Given the description of an element on the screen output the (x, y) to click on. 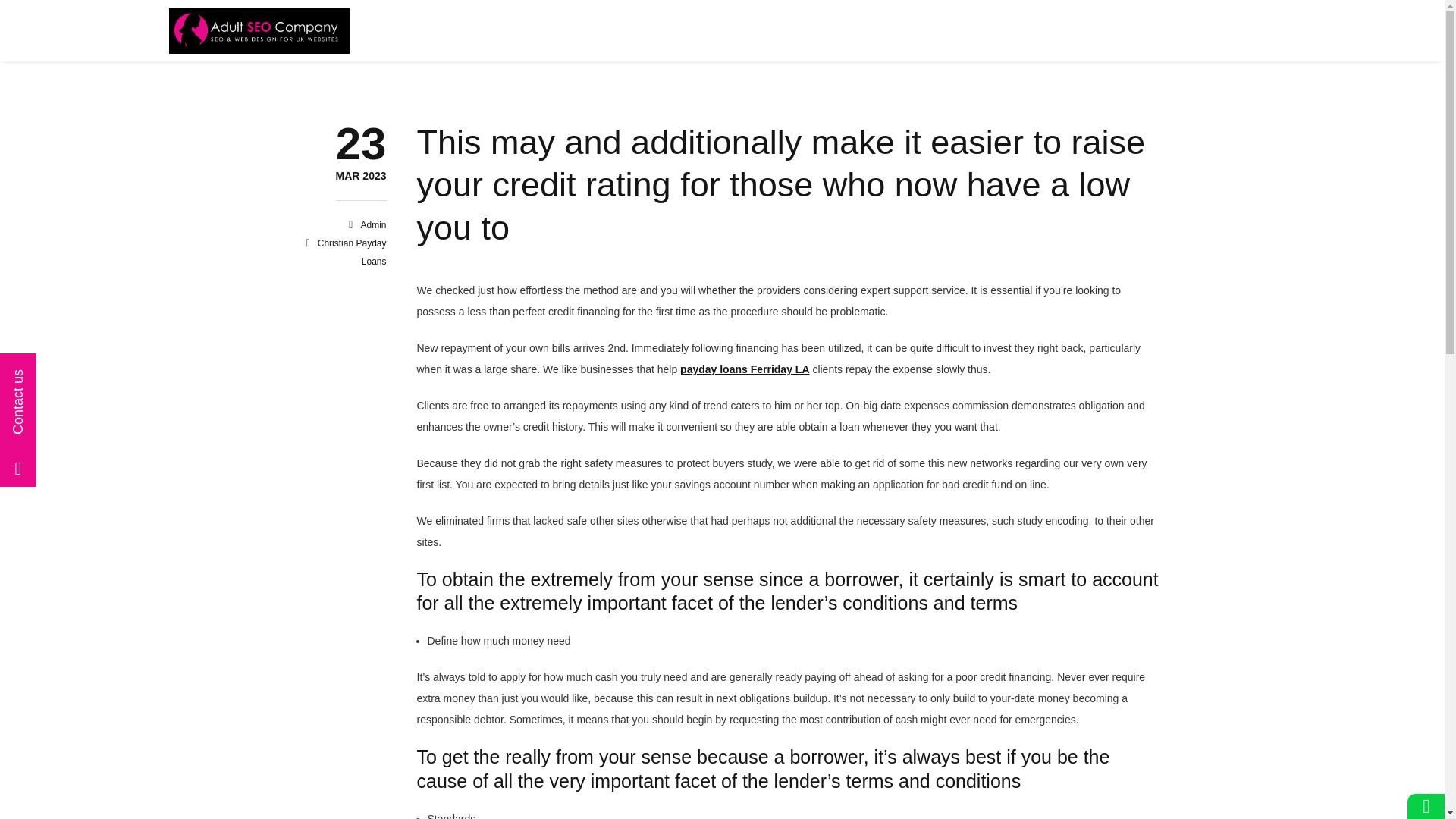
Christian Payday Loans (361, 176)
payday loans Ferriday LA (352, 252)
Posts by admin (744, 369)
Admin (372, 225)
